Given the description of an element on the screen output the (x, y) to click on. 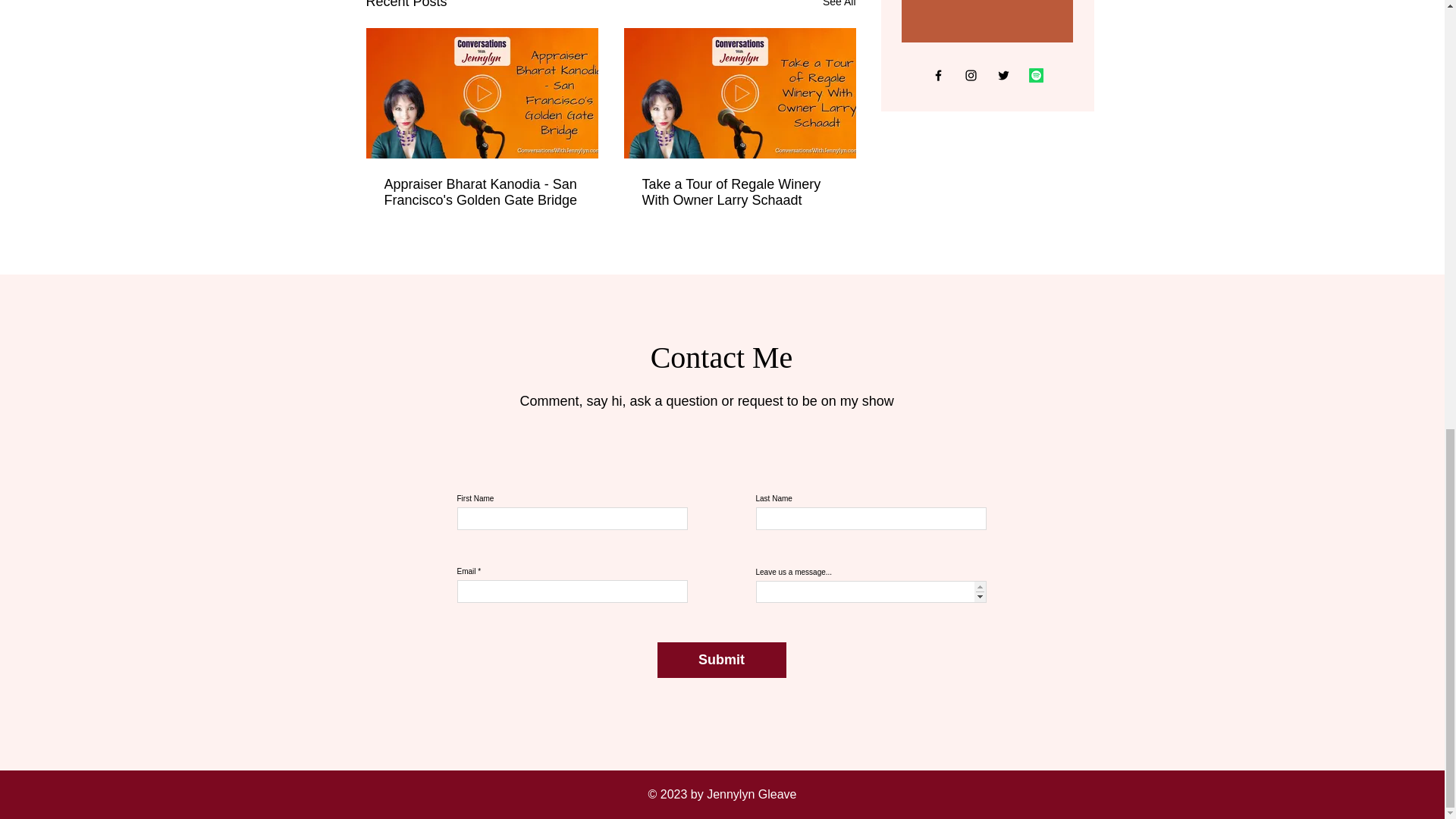
Take a Tour of Regale Winery With Owner Larry Schaadt (739, 192)
See All (839, 6)
